Given the description of an element on the screen output the (x, y) to click on. 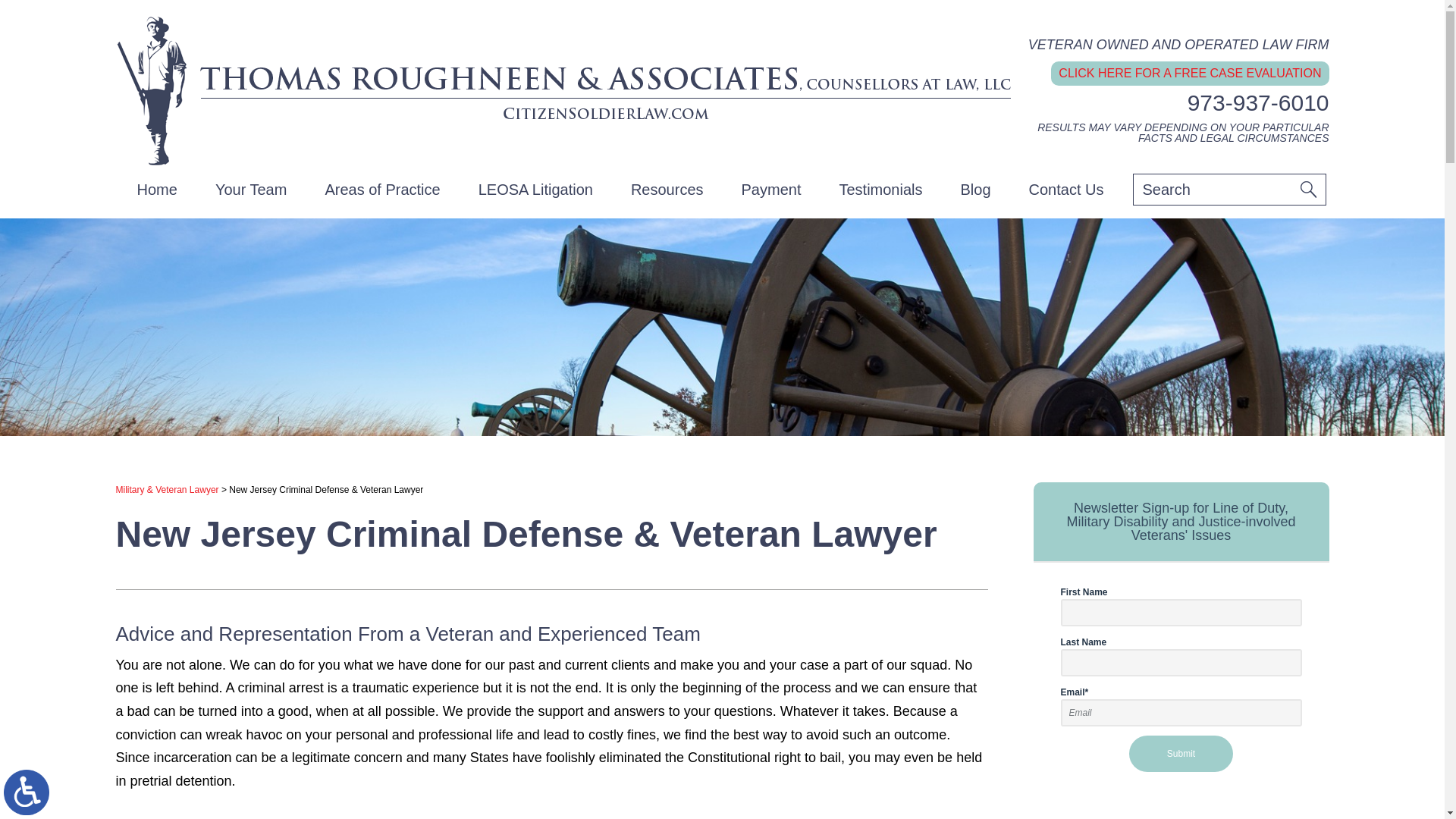
CLICK HERE FOR A FREE CASE EVALUATION (1189, 73)
Home (156, 189)
Switch to ADA Accessible Theme (26, 791)
Resources (666, 189)
Submit (1181, 753)
LEOSA Litigation (535, 189)
Areas of Practice (381, 189)
973-937-6010 (1258, 102)
Your Team (250, 189)
